Given the description of an element on the screen output the (x, y) to click on. 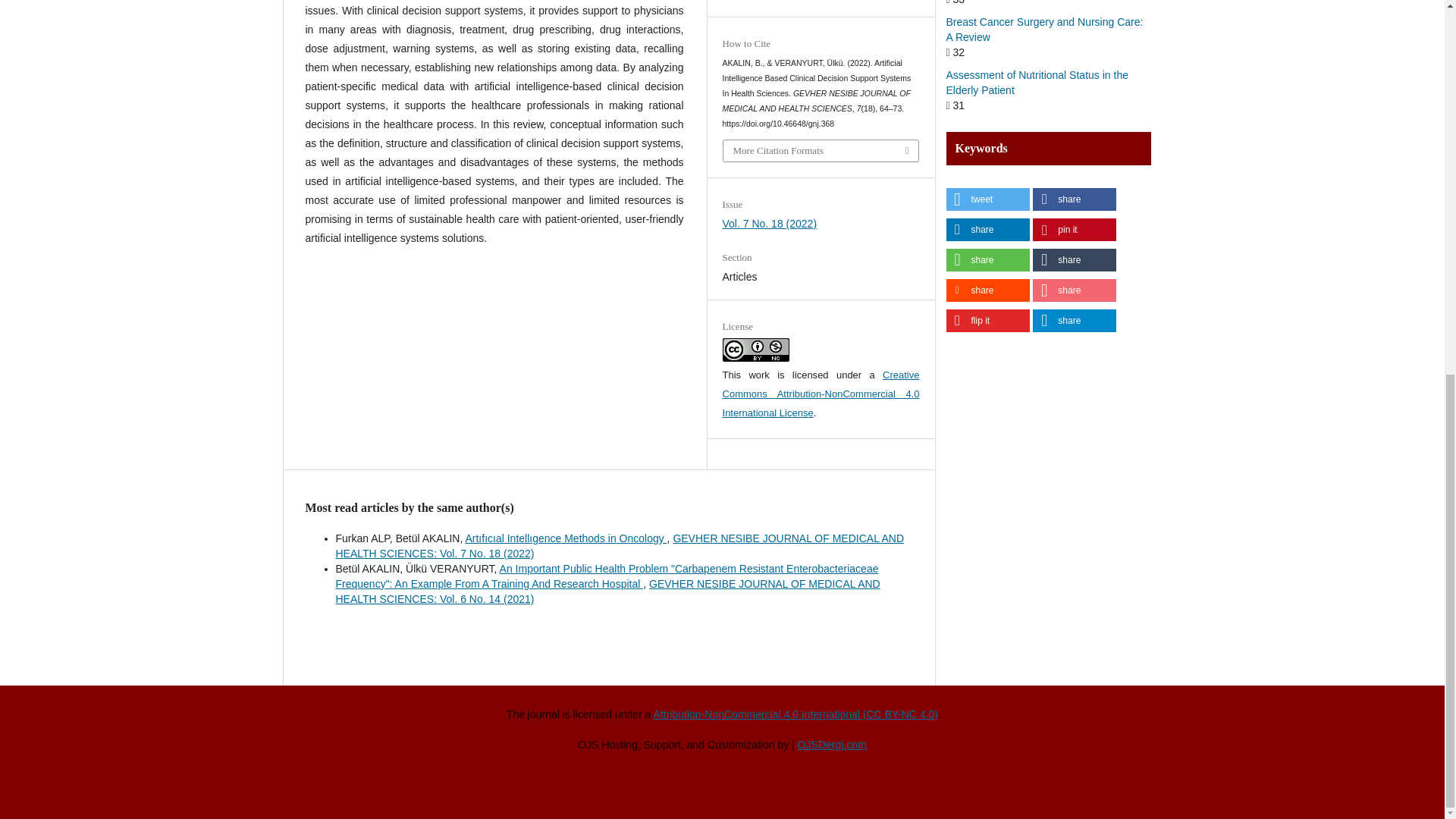
Share on Facebook (1074, 199)
Share on Telegram (1074, 320)
Share on weibo (1074, 290)
Share on Twitter (987, 199)
Share on LinkedIn (987, 229)
Share on Whatsapp (987, 259)
Pin it on Pinterest (1074, 229)
Share on Reddit (987, 290)
Share on Flipboard (987, 320)
Share on tumblr (1074, 259)
More Citation Formats (820, 150)
